Given the description of an element on the screen output the (x, y) to click on. 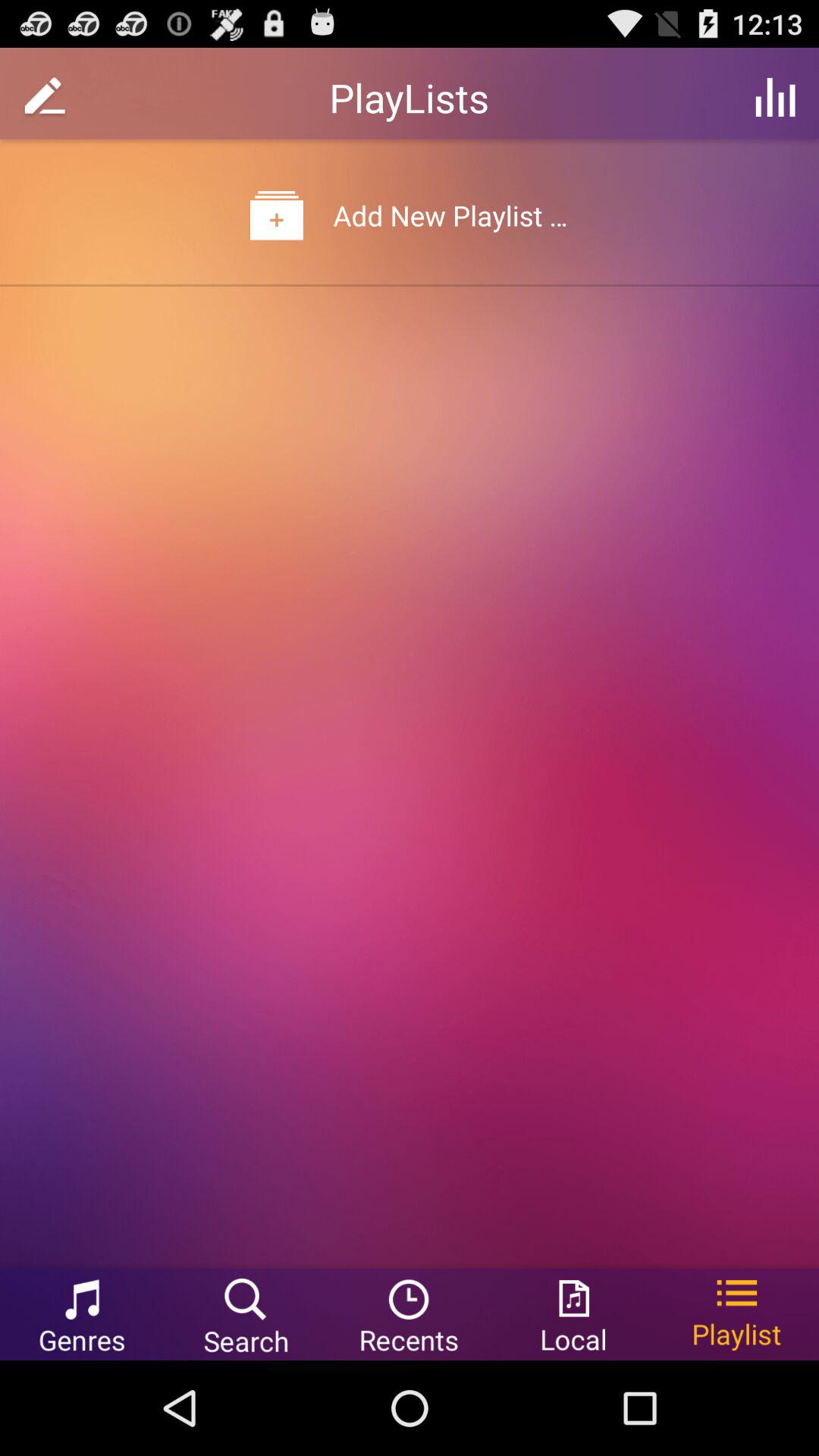
select the item at the top right corner (775, 96)
